Given the description of an element on the screen output the (x, y) to click on. 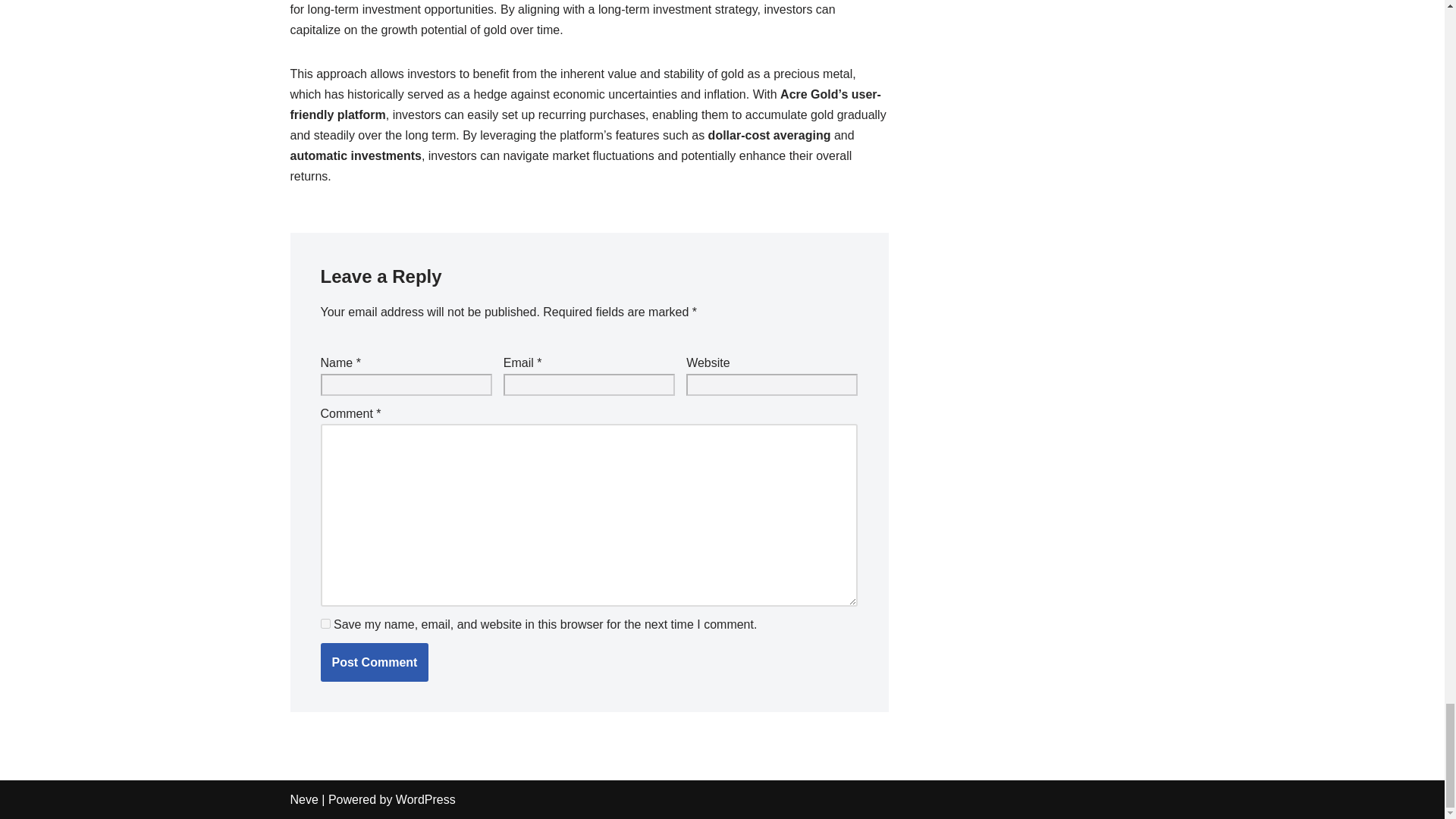
Neve (303, 799)
WordPress (425, 799)
yes (325, 623)
Post Comment (374, 662)
Post Comment (374, 662)
